Given the description of an element on the screen output the (x, y) to click on. 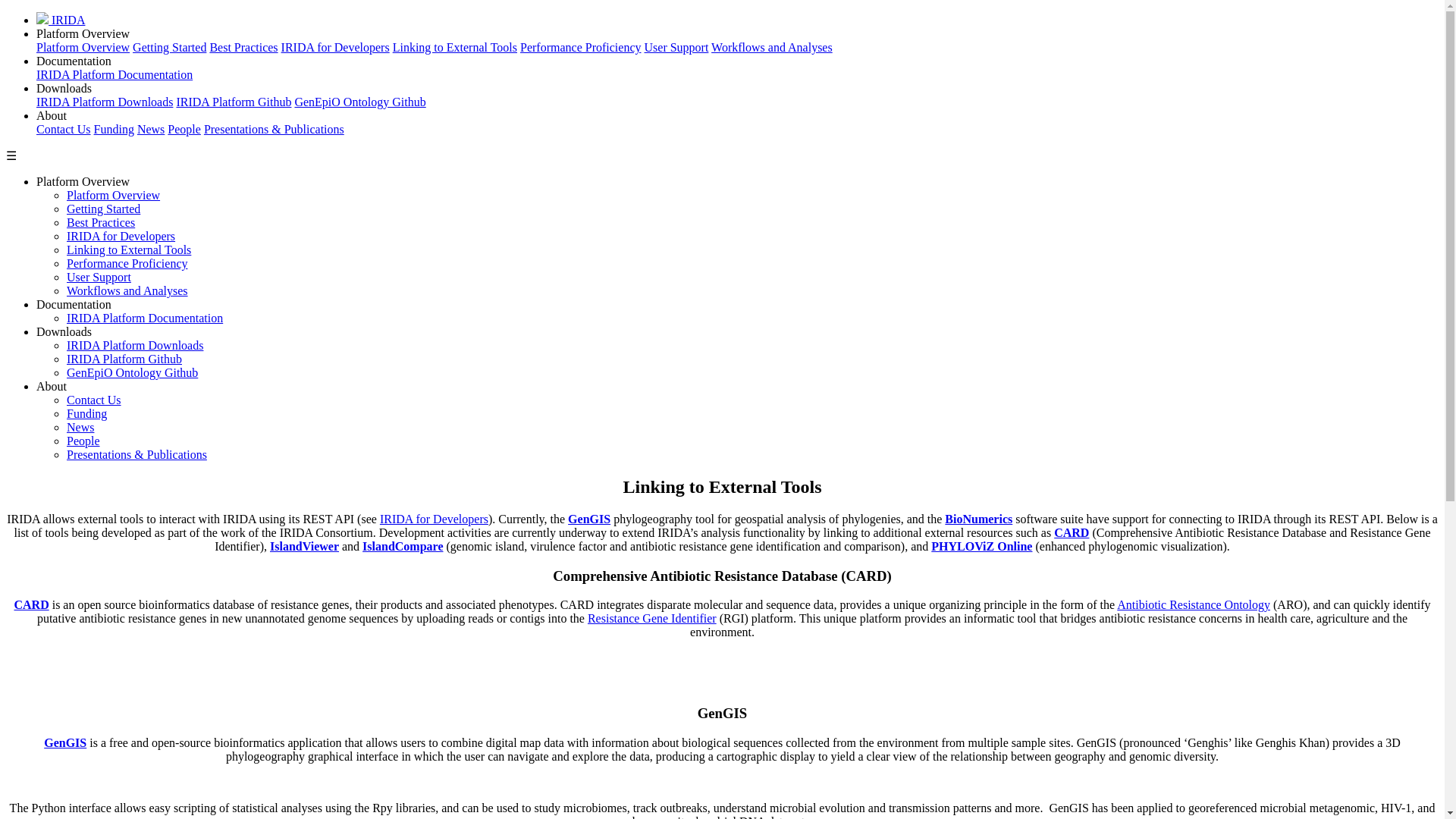
Getting Started (169, 47)
Performance Proficiency (579, 47)
IRIDA Platform Downloads (104, 101)
IRIDA for Developers (335, 47)
IRIDA Platform Downloads (134, 345)
IRIDA Platform Github (124, 358)
Downloads (63, 88)
Platform Overview (82, 47)
Workflows and Analyses (771, 47)
Performance Proficiency (126, 263)
